Given the description of an element on the screen output the (x, y) to click on. 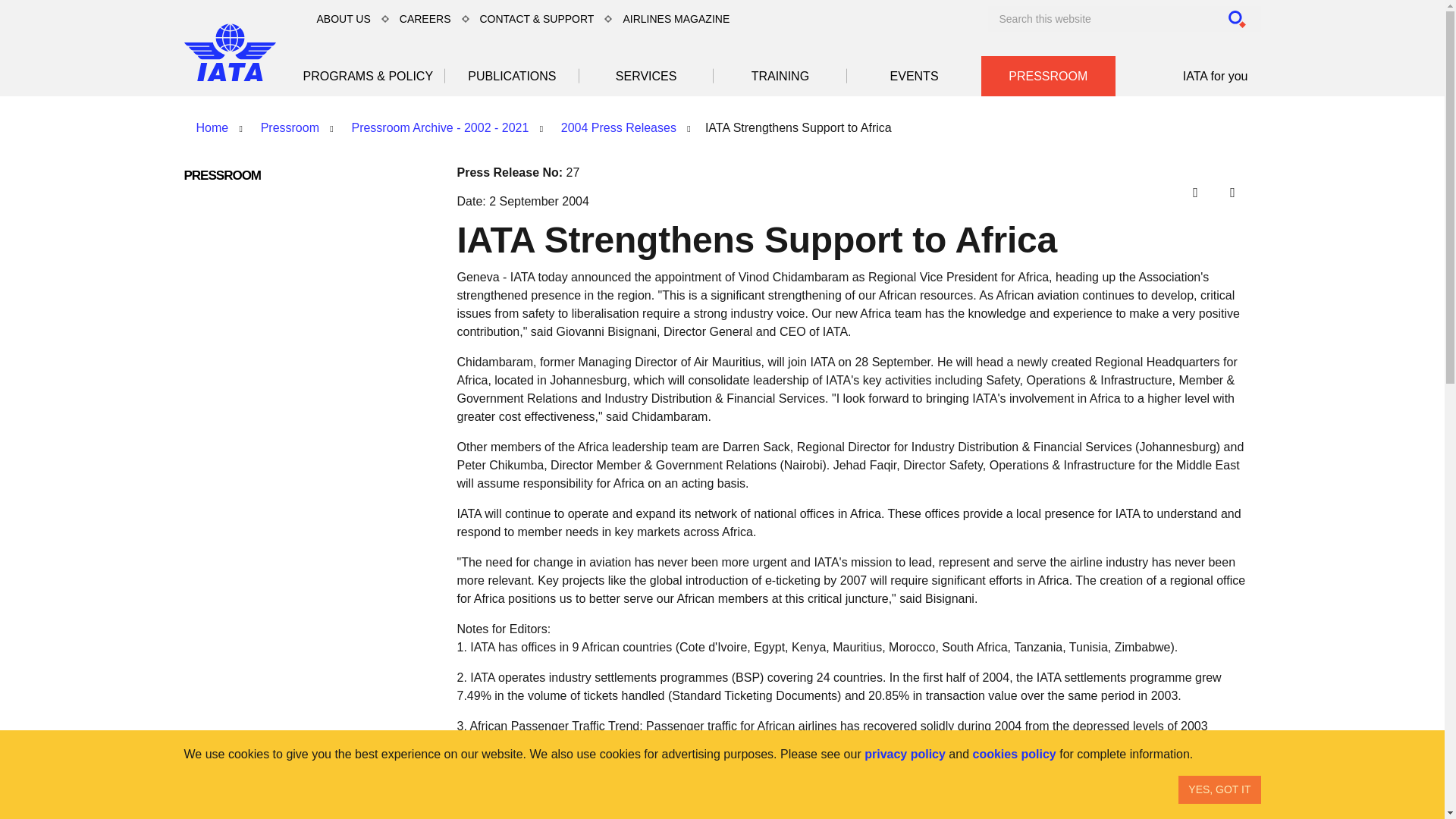
AIRLINES MAGAZINE (675, 18)
ABOUT US (343, 18)
SERVICES (646, 76)
CAREERS (424, 18)
PUBLICATIONS (512, 76)
